Given the description of an element on the screen output the (x, y) to click on. 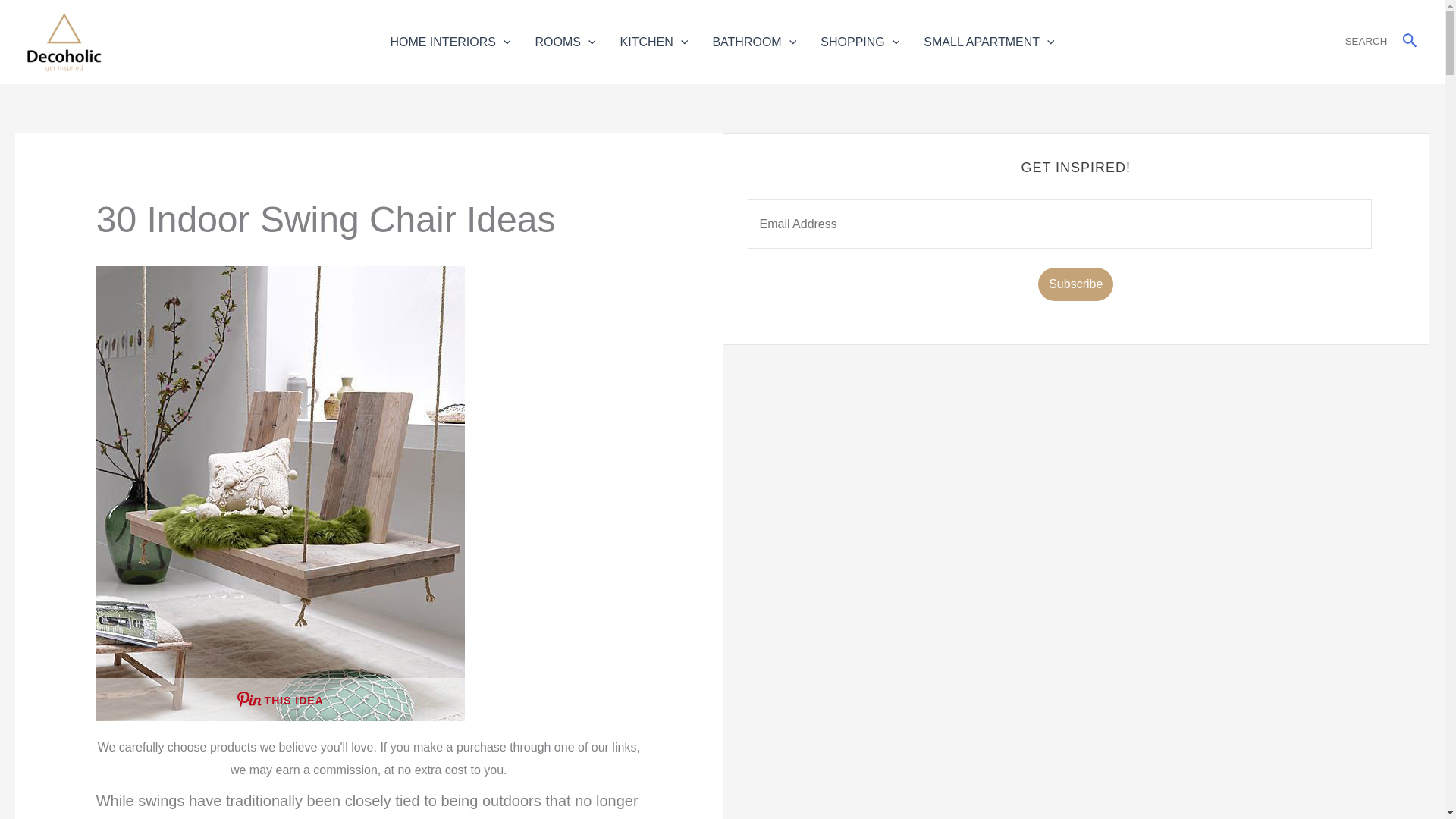
SHOPPING (859, 41)
BATHROOM (754, 41)
KITCHEN (654, 41)
SMALL APARTMENT (988, 41)
ROOMS (565, 41)
HOME INTERIORS (449, 41)
